Given the description of an element on the screen output the (x, y) to click on. 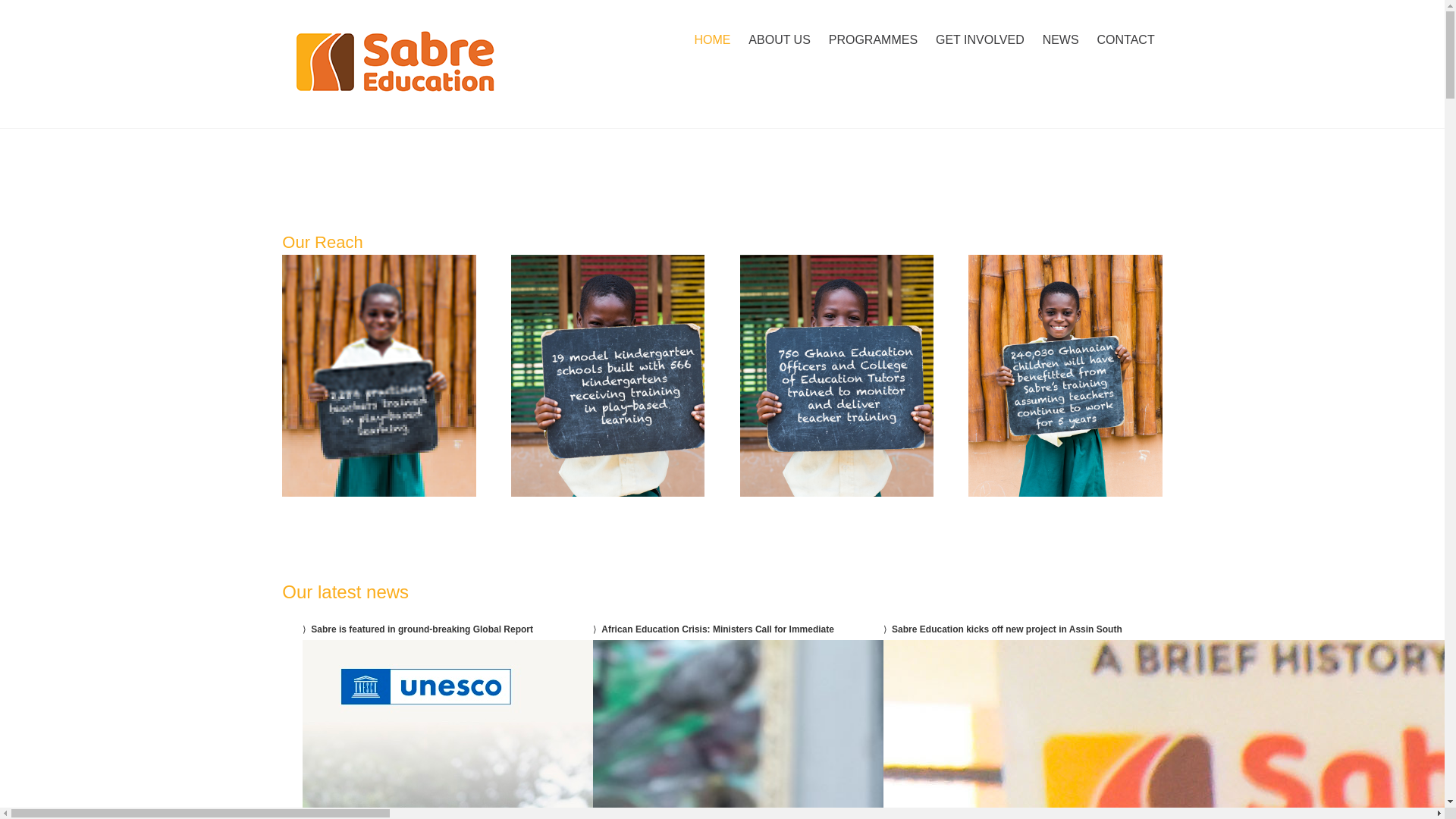
PROGRAMMES (872, 40)
Search (20, 11)
GET INVOLVED (980, 40)
Sabre Education -  (413, 64)
CONTACT (1125, 40)
ABOUT US (779, 40)
DONATE (1132, 15)
